Given the description of an element on the screen output the (x, y) to click on. 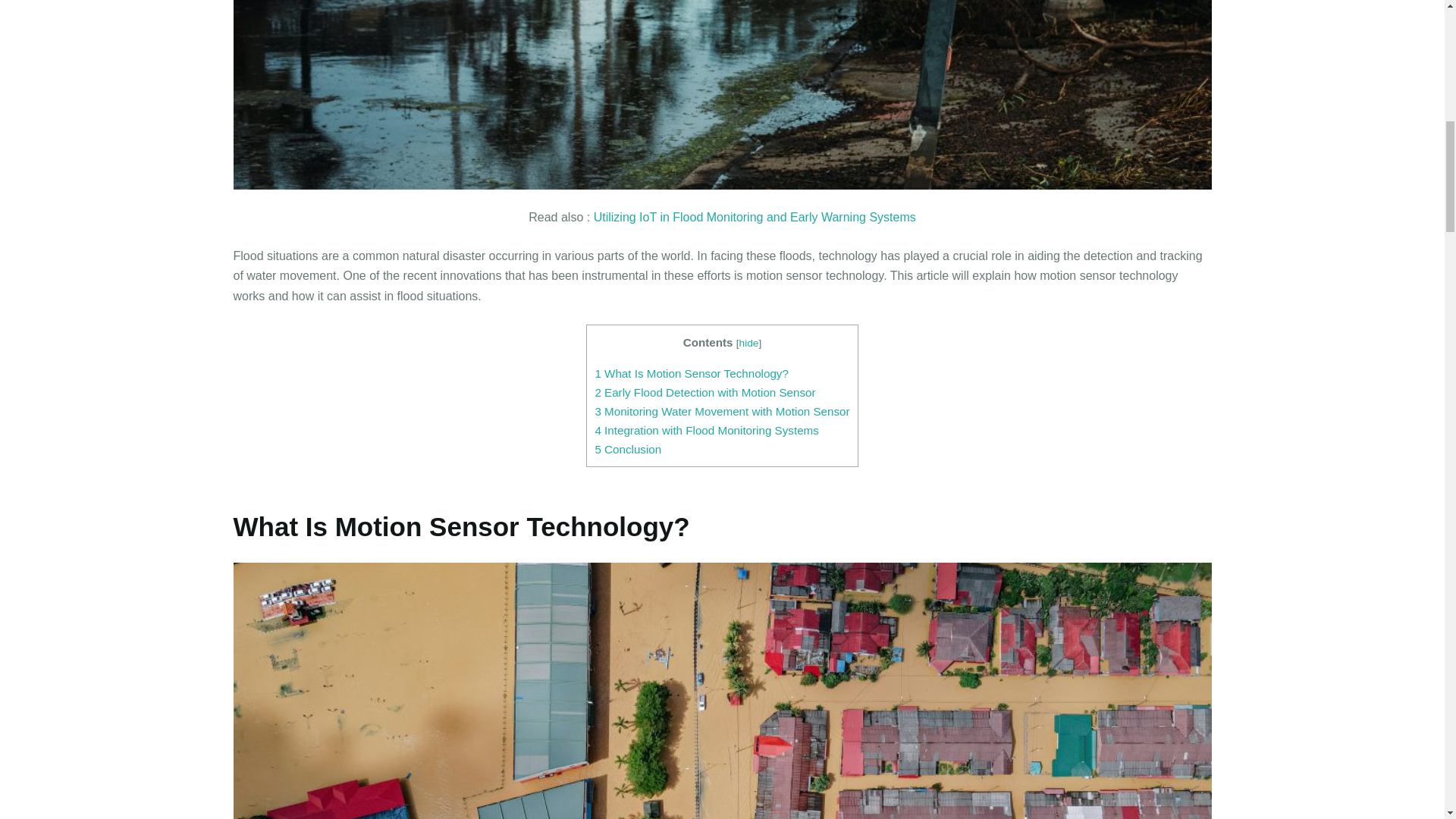
hide (748, 342)
4 Integration with Flood Monitoring Systems (706, 430)
2 Early Flood Detection with Motion Sensor (704, 391)
3 Monitoring Water Movement with Motion Sensor (721, 410)
Utilizing IoT in Flood Monitoring and Early Warning Systems (754, 216)
5 Conclusion (627, 449)
1 What Is Motion Sensor Technology? (691, 373)
